Given the description of an element on the screen output the (x, y) to click on. 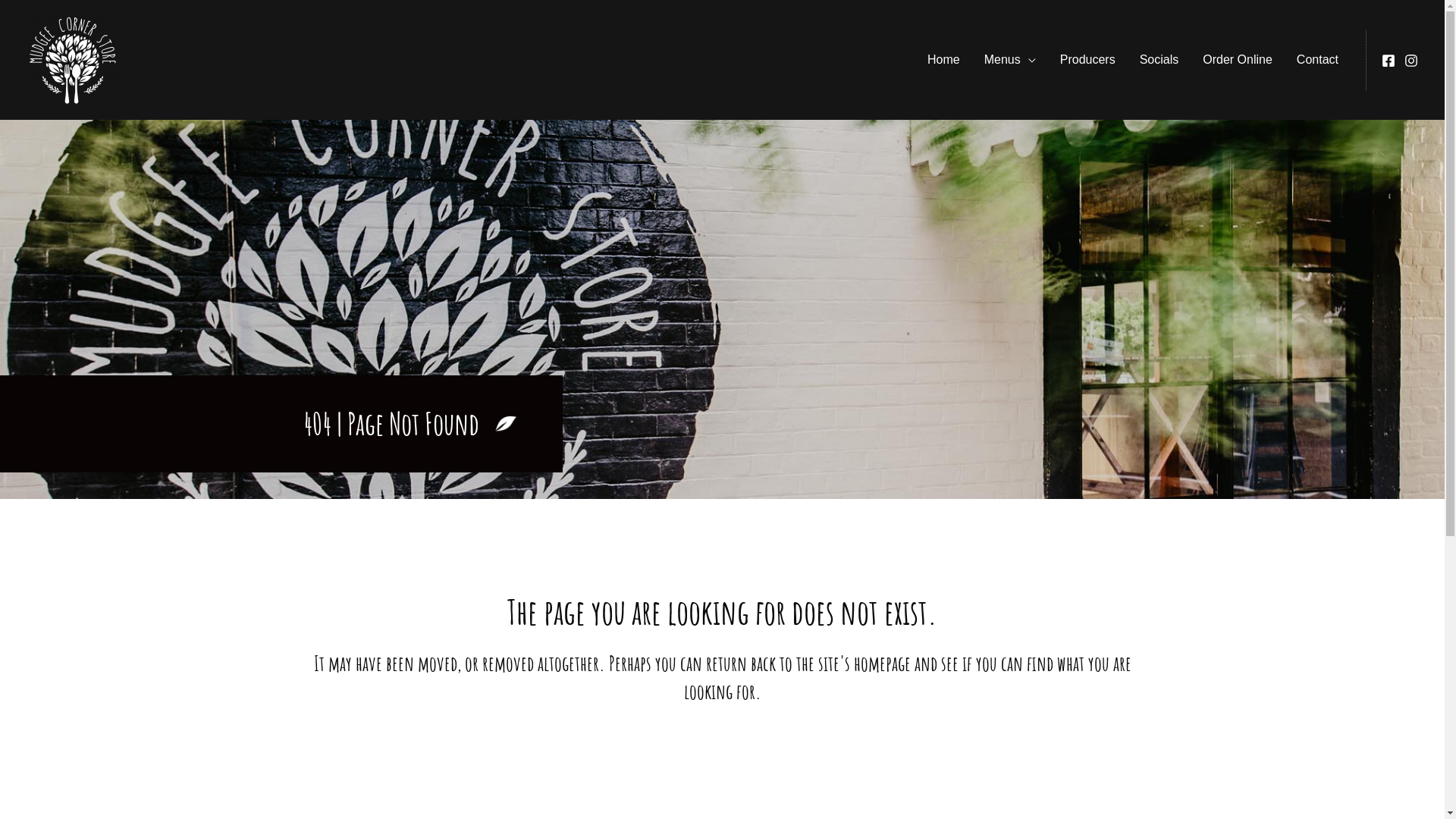
Contact Element type: text (1317, 59)
MCS_leaf_Right@500px Element type: hover (505, 423)
Producers Element type: text (1087, 59)
Socials Element type: text (1159, 59)
Menus Element type: text (1010, 59)
Order Online Element type: text (1237, 59)
Home Element type: text (943, 59)
